Given the description of an element on the screen output the (x, y) to click on. 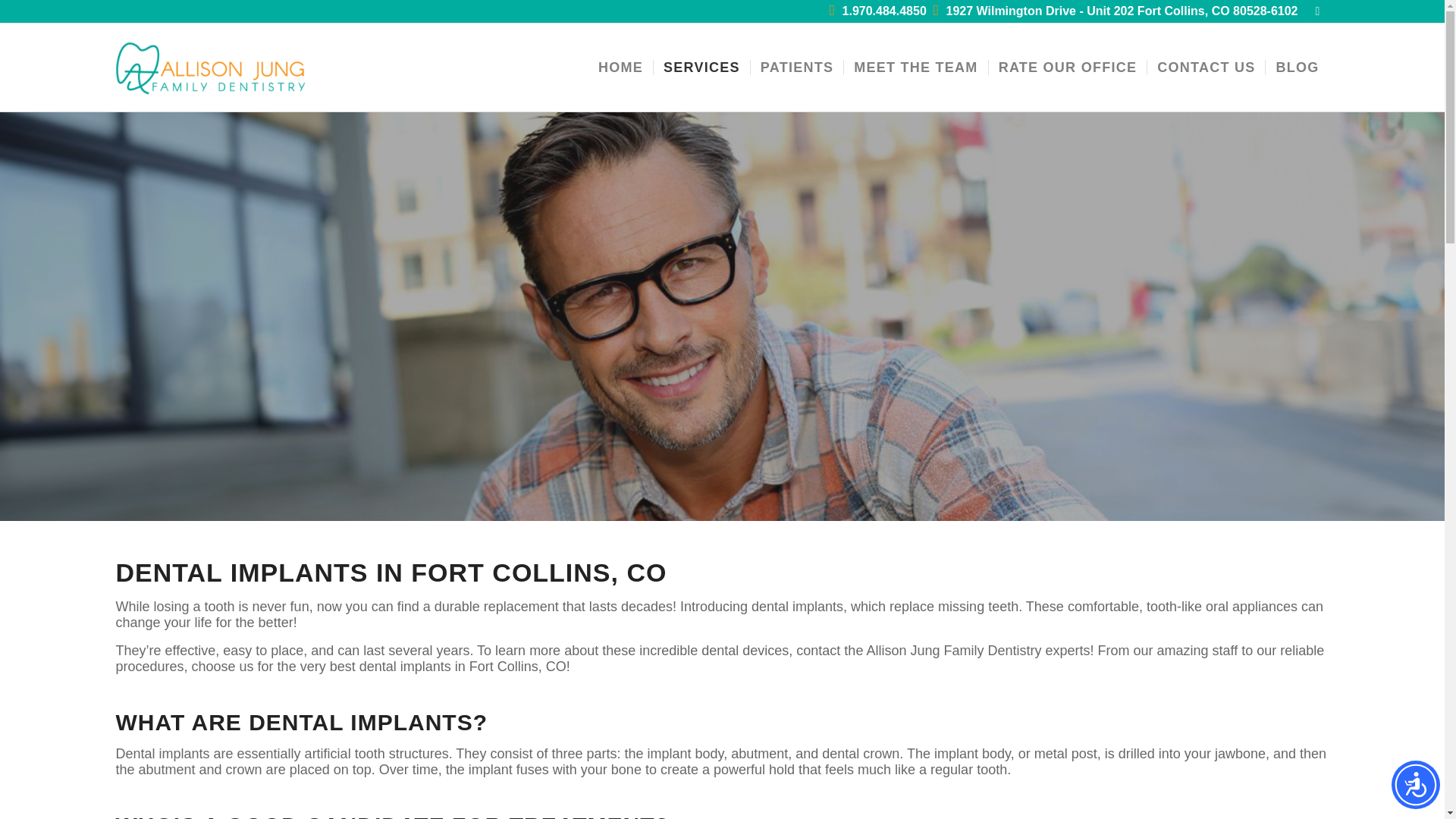
PATIENTS (796, 67)
CONTACT US (1206, 67)
Facebook (1316, 11)
MEET THE TEAM (915, 67)
SERVICES (700, 67)
Accessibility Menu (1415, 784)
RATE OUR OFFICE (1067, 67)
allisonjung340x156 (211, 67)
